Given the description of an element on the screen output the (x, y) to click on. 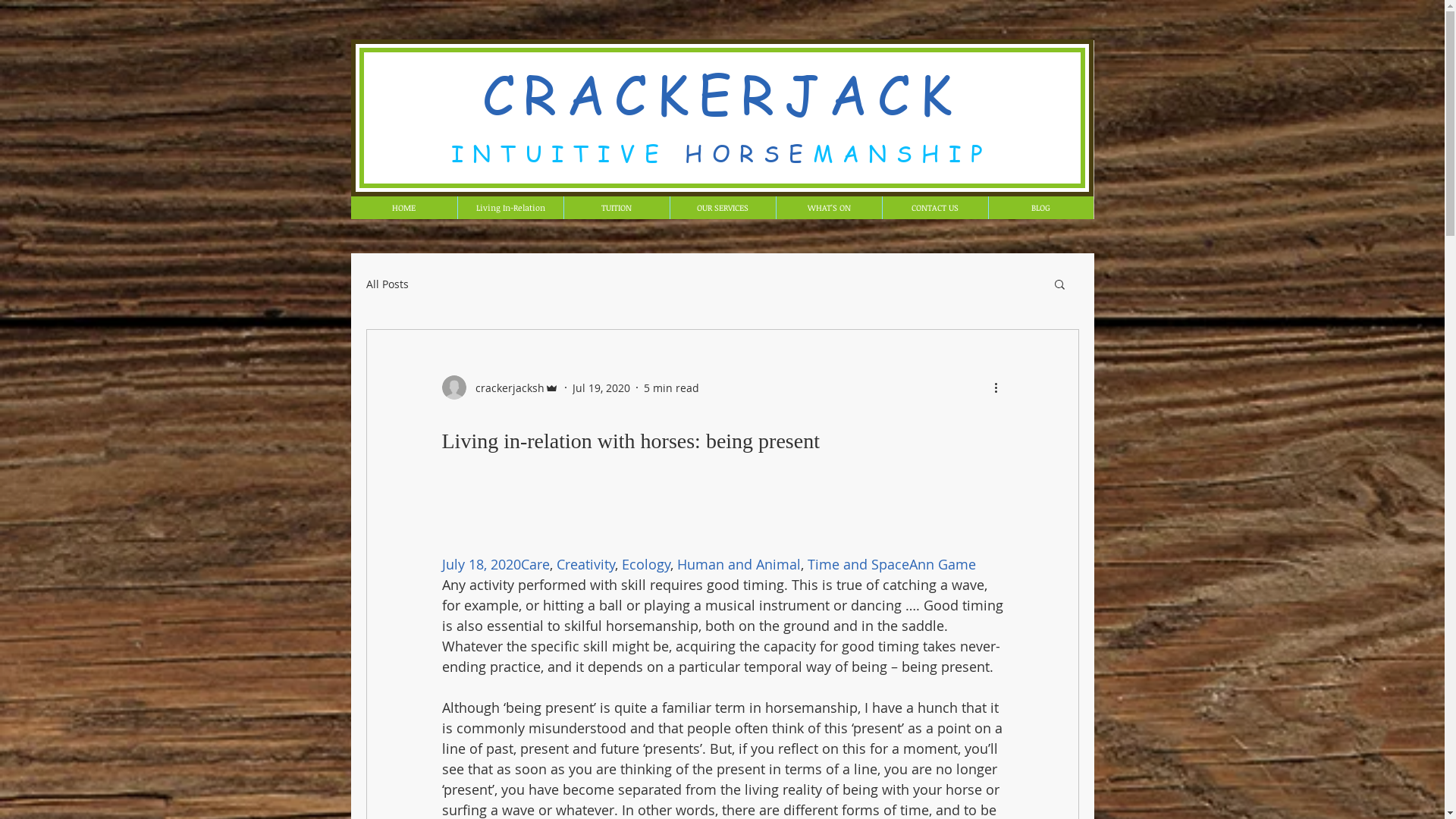
July 18, 2020 Element type: text (480, 564)
Creativity Element type: text (585, 564)
crackerjacksh Element type: text (499, 387)
Living In-Relation Element type: text (509, 207)
Care Element type: text (534, 564)
TUITION Element type: text (615, 207)
Time and Space Element type: text (857, 564)
Ann Game Element type: text (941, 564)
All Posts Element type: text (386, 283)
Human and Animal Element type: text (738, 564)
OUR SERVICES Element type: text (721, 207)
BLOG Element type: text (1039, 207)
WHAT'S ON Element type: text (828, 207)
Ecology Element type: text (645, 564)
HOME Element type: text (403, 207)
CONTACT US Element type: text (934, 207)
